Given the description of an element on the screen output the (x, y) to click on. 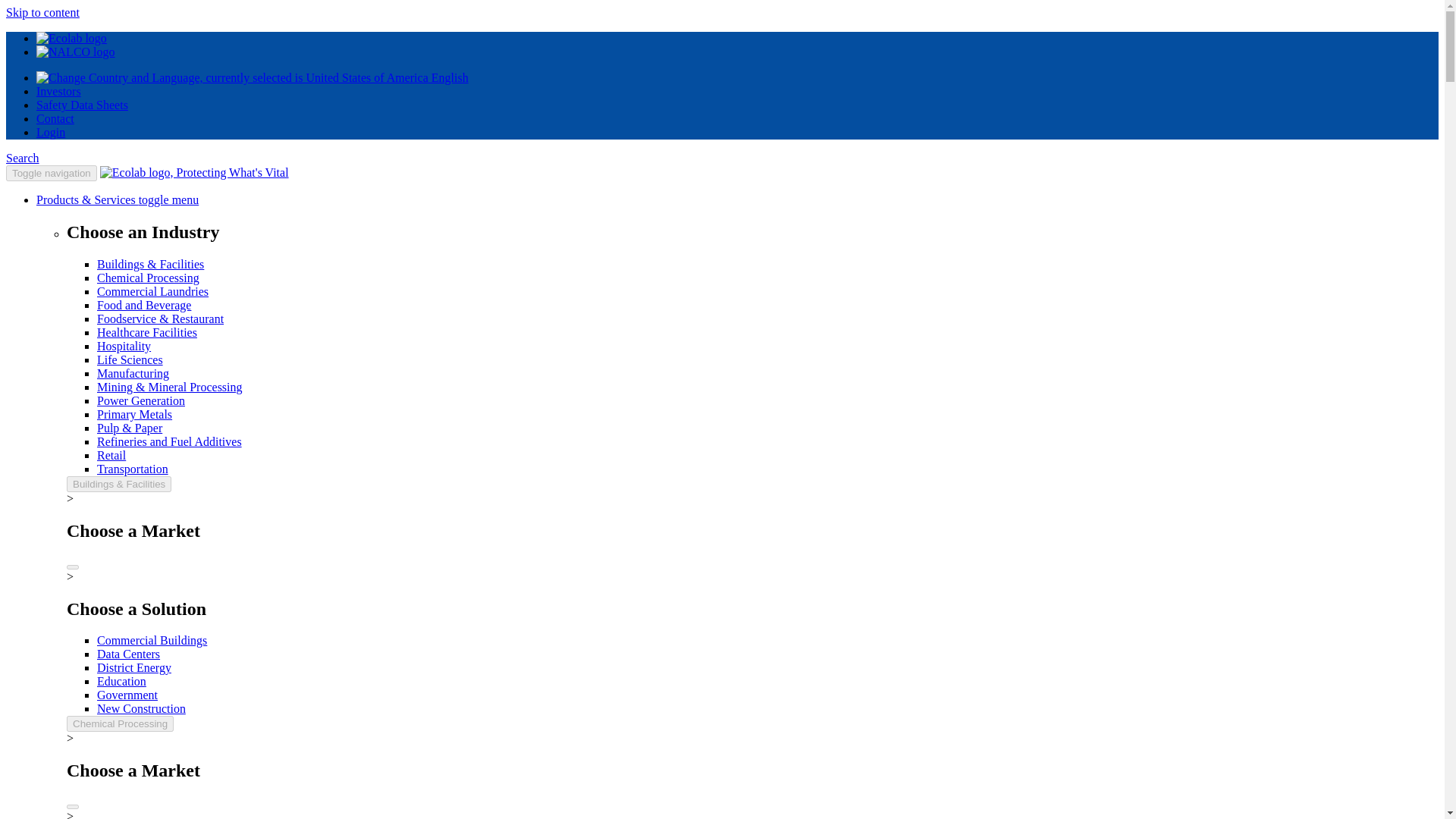
Education (122, 680)
Government (127, 694)
Investors (58, 91)
toggle menu (168, 199)
Transportation (132, 468)
Life Sciences (130, 359)
Healthcare Facilities (146, 332)
Safety Data Sheets (82, 104)
Skip to content (42, 11)
Toggle navigation (51, 172)
Login (50, 132)
Chemical Processing (119, 723)
Ecolab Home (194, 172)
Commercial Laundries (152, 291)
Change Country and Language (252, 77)
